Given the description of an element on the screen output the (x, y) to click on. 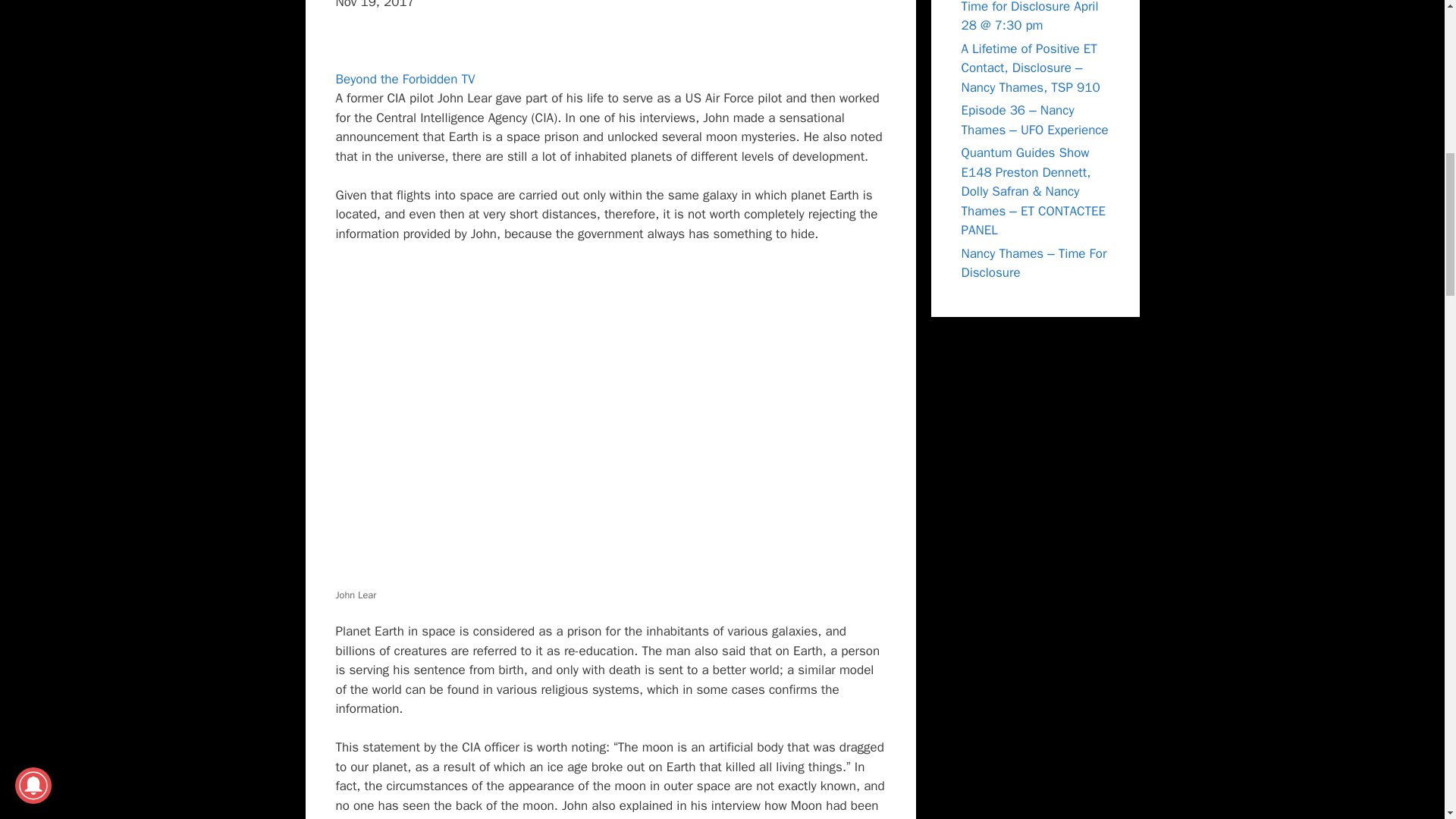
Beyond the Forbidden TV (404, 78)
Scroll back to top (1406, 720)
